Given the description of an element on the screen output the (x, y) to click on. 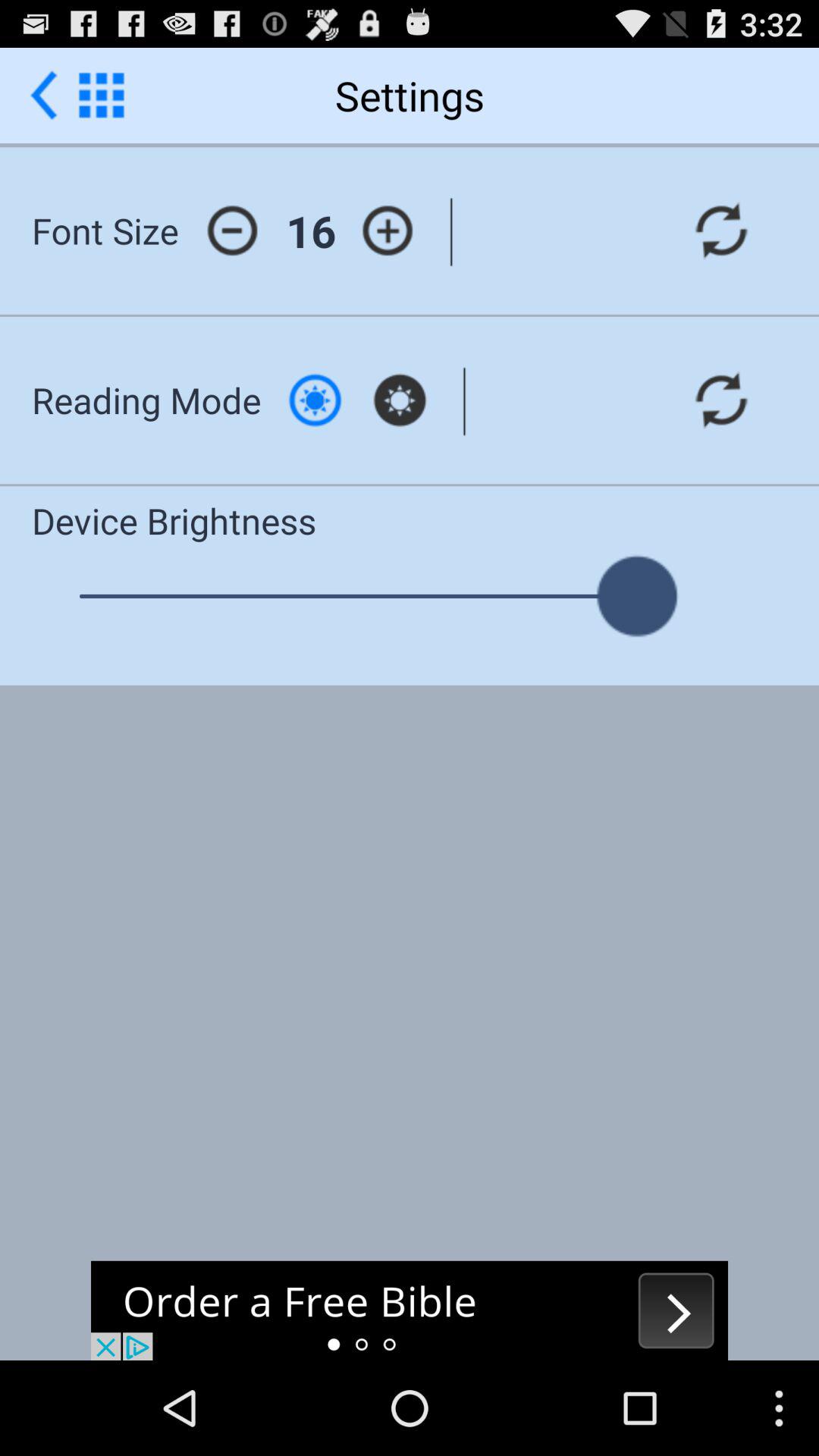
normal reading mode (315, 399)
